Given the description of an element on the screen output the (x, y) to click on. 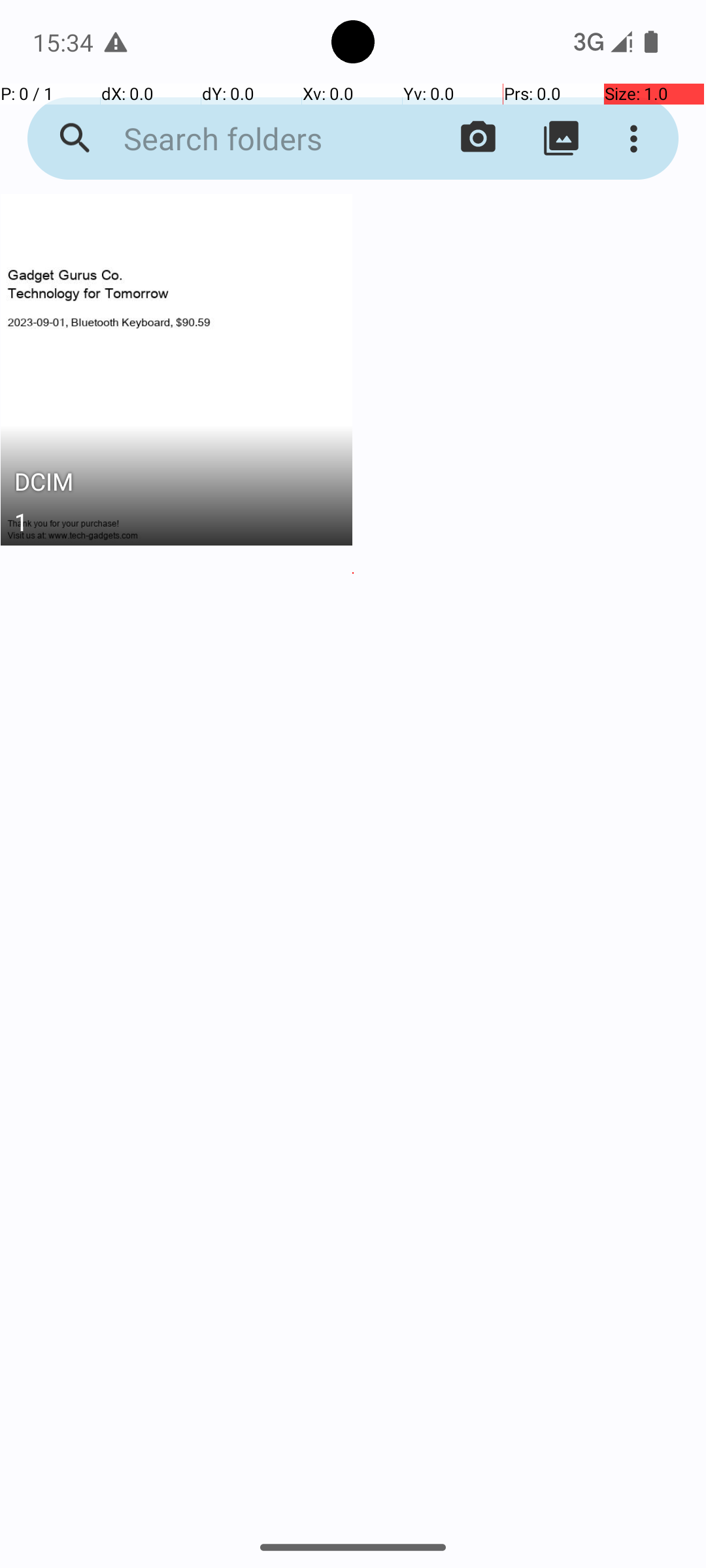
Search folders Element type: android.widget.EditText (252, 138)
Open camera Element type: android.widget.Button (477, 138)
Show all folders content Element type: android.widget.Button (560, 138)
DCIM Element type: android.widget.TextView (176, 484)
